Given the description of an element on the screen output the (x, y) to click on. 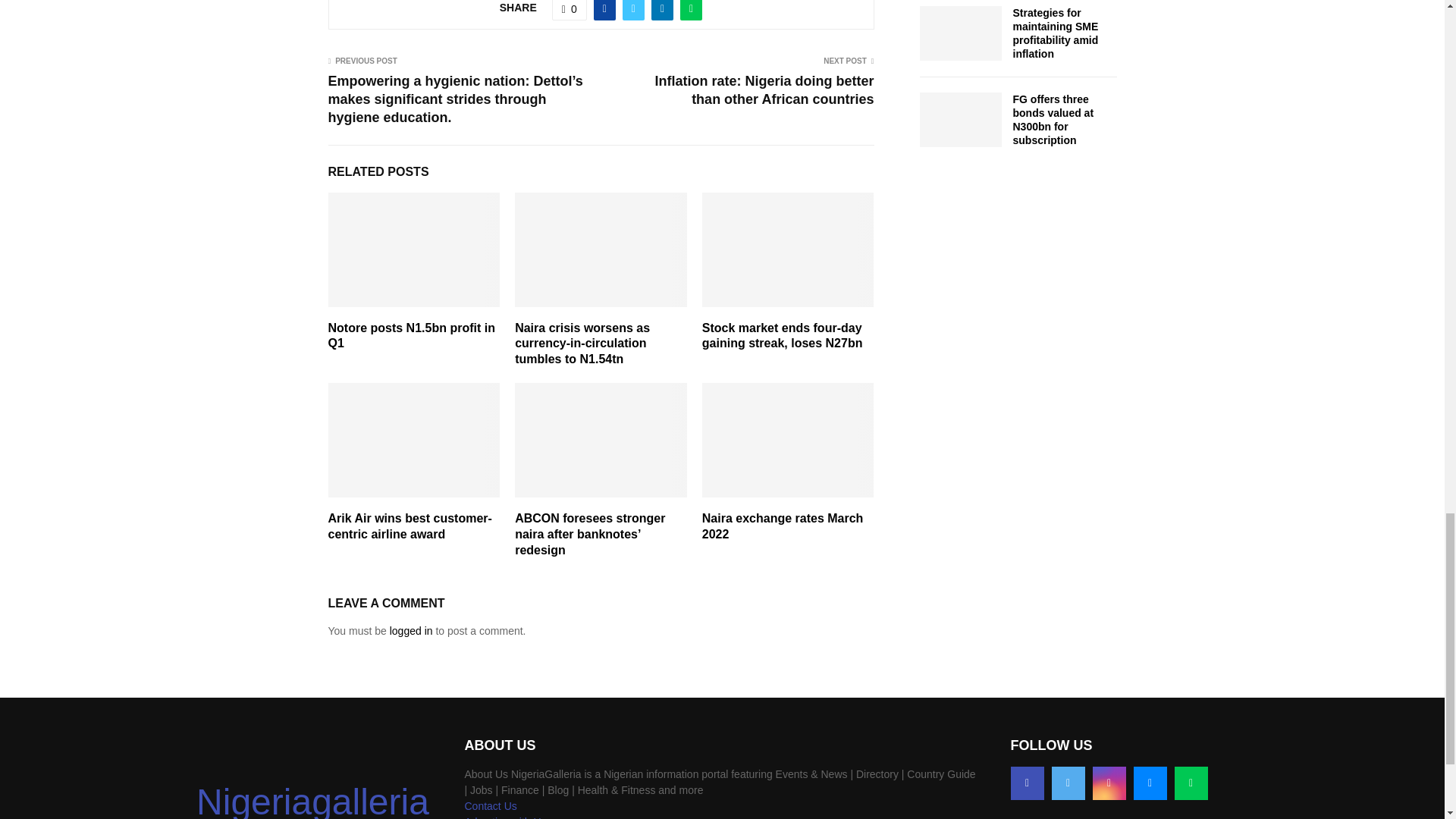
Like (568, 10)
